Given the description of an element on the screen output the (x, y) to click on. 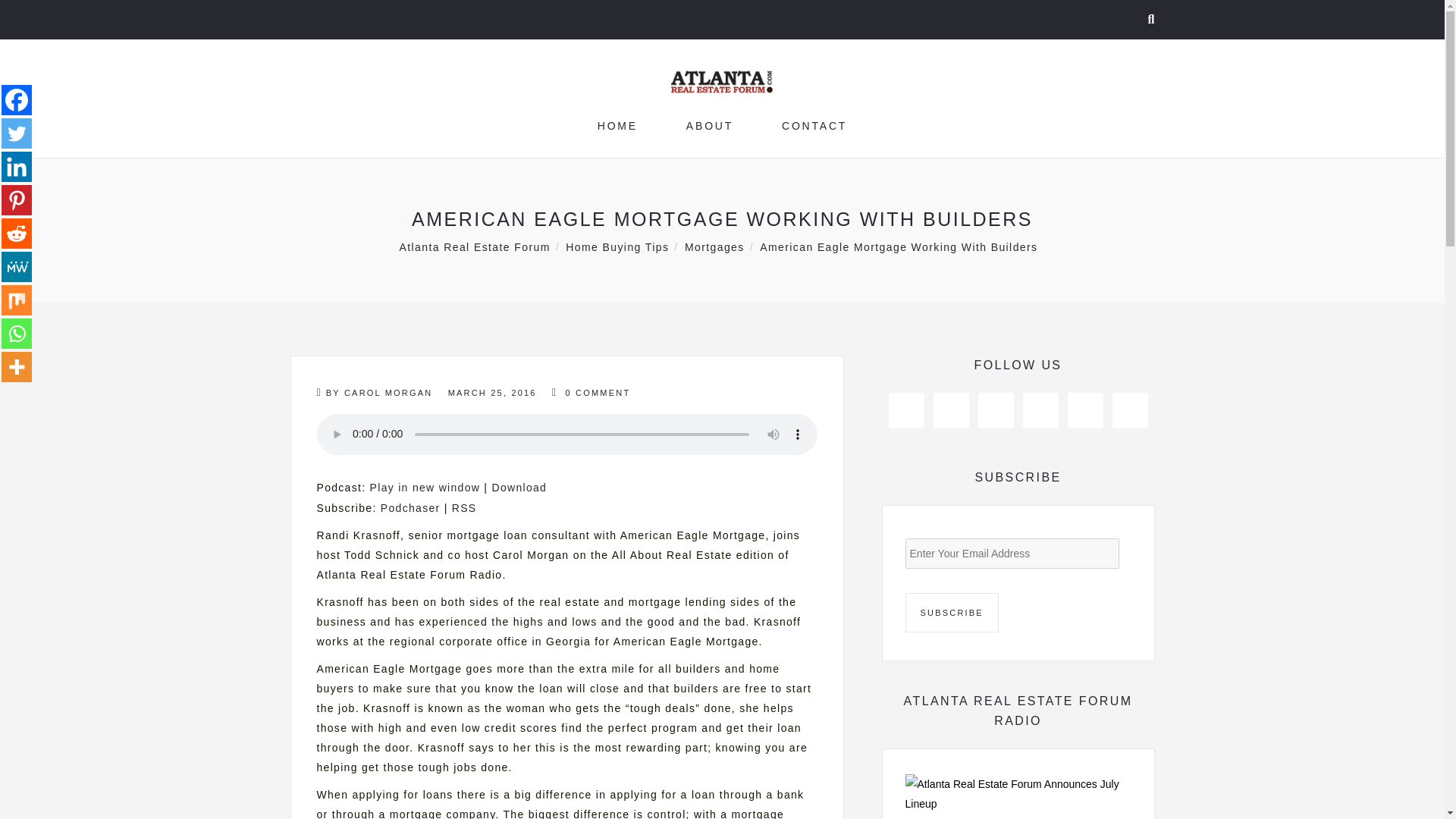
Go to the Mortgages Category archives. (714, 246)
Play in new window (424, 487)
0 COMMENT (590, 392)
Atlanta Real Estate Forum (474, 246)
ABOUT (709, 125)
Twitter (16, 132)
BY CAROL MORGAN (374, 392)
RSS (464, 508)
Download (519, 487)
About (709, 125)
